Given the description of an element on the screen output the (x, y) to click on. 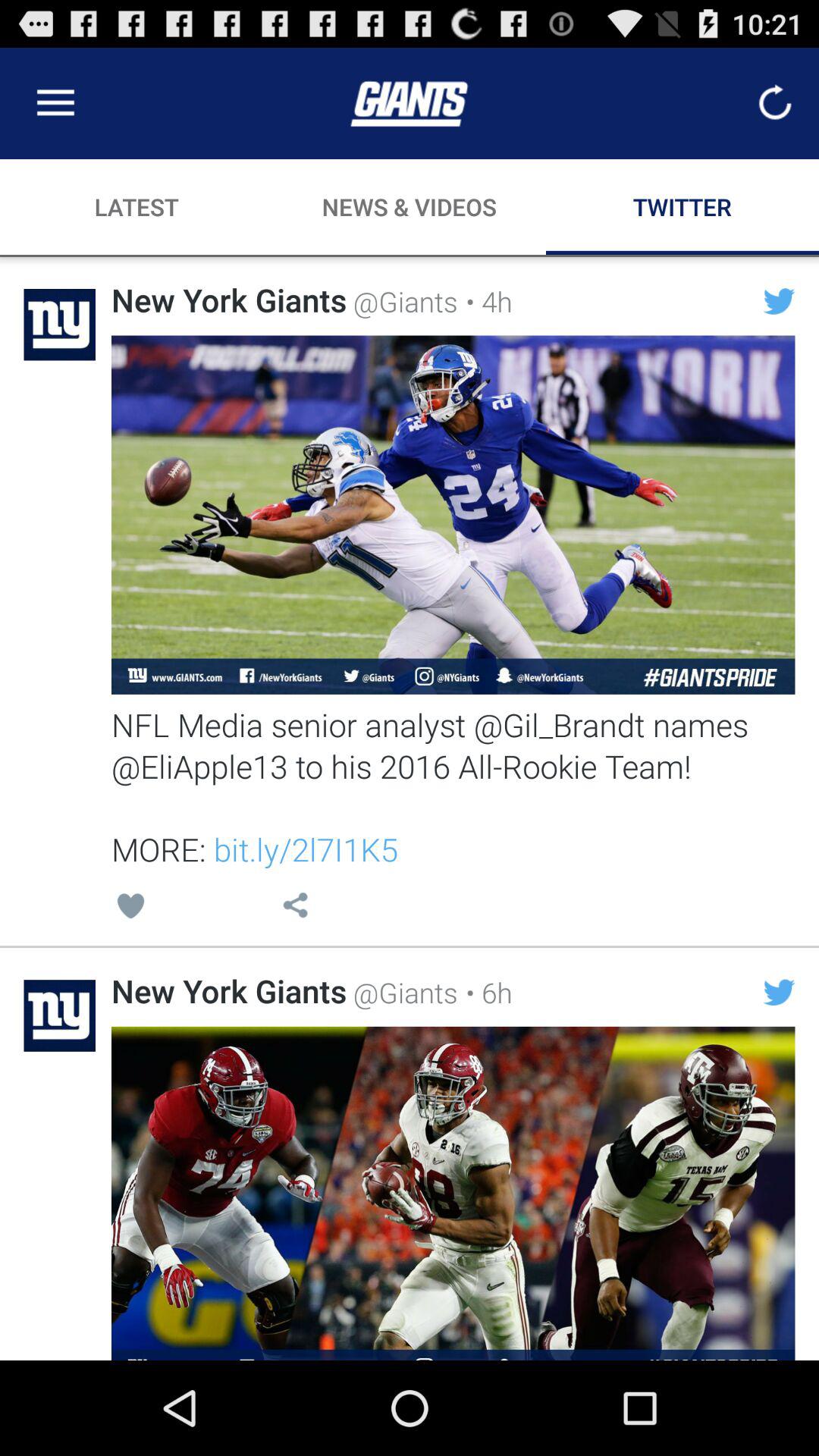
open tweet (453, 1193)
